Given the description of an element on the screen output the (x, y) to click on. 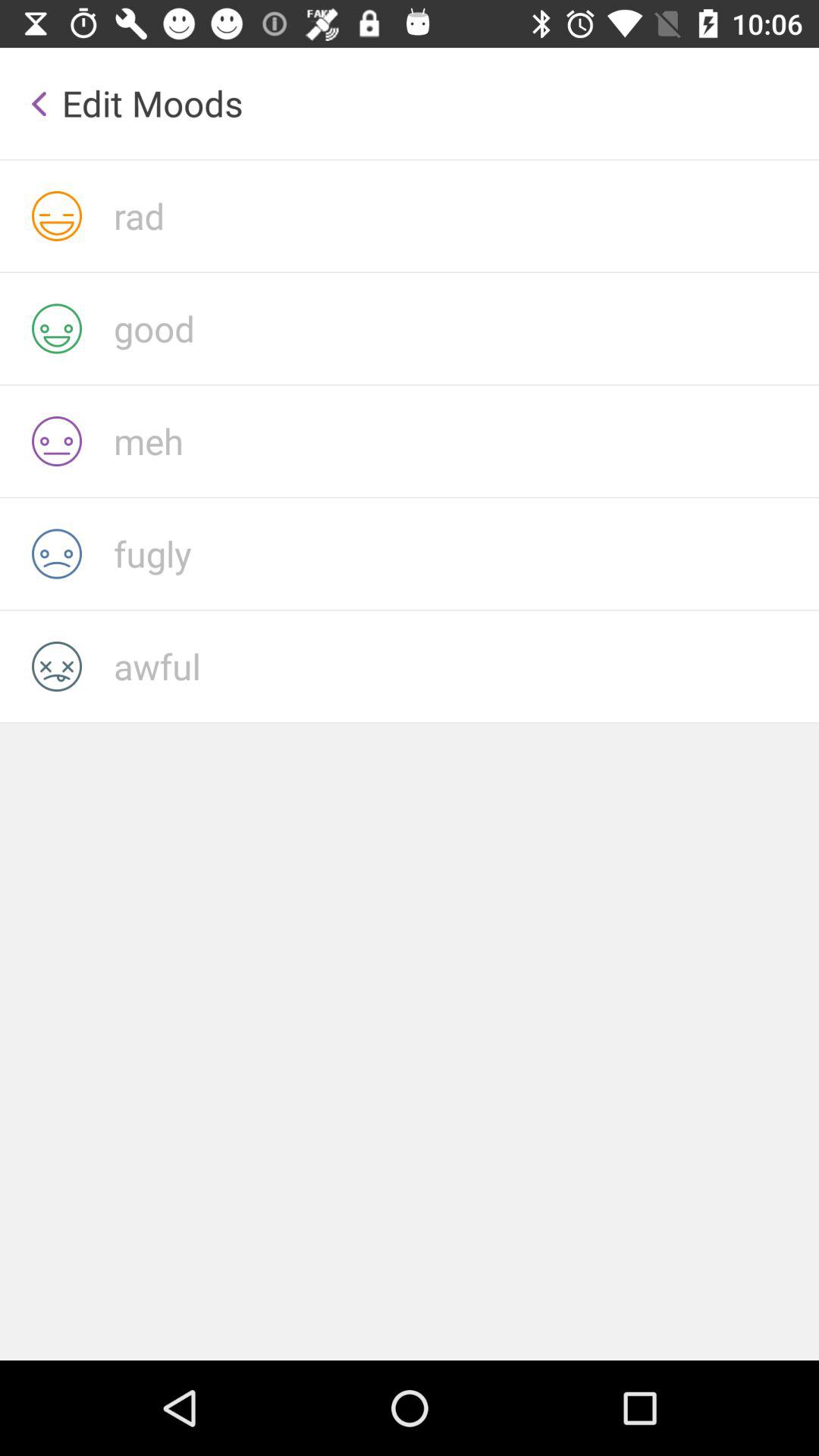
type in another mood (466, 666)
